Given the description of an element on the screen output the (x, y) to click on. 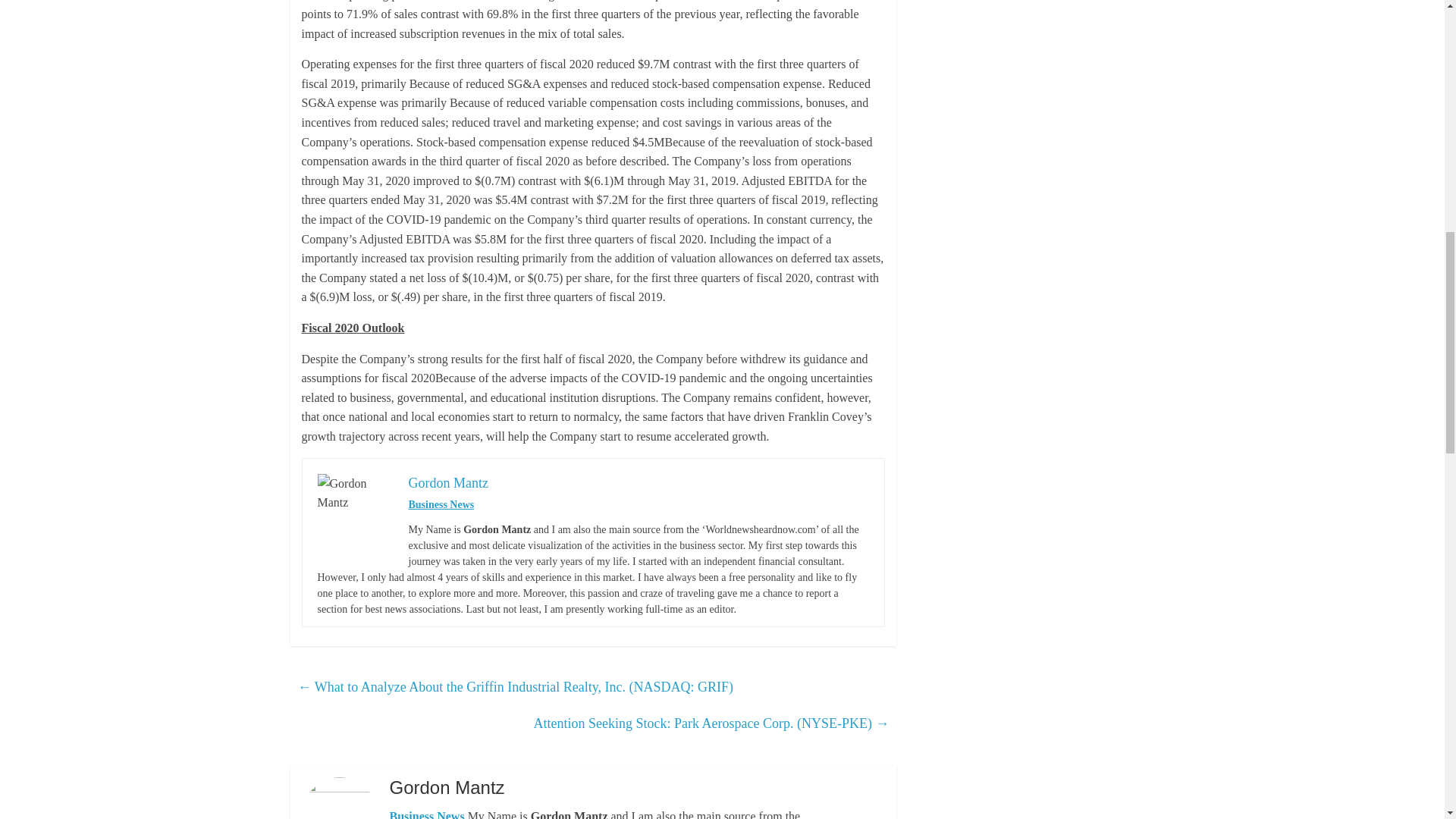
Gordon Mantz (447, 482)
Business News (440, 504)
Business News (426, 814)
